Given the description of an element on the screen output the (x, y) to click on. 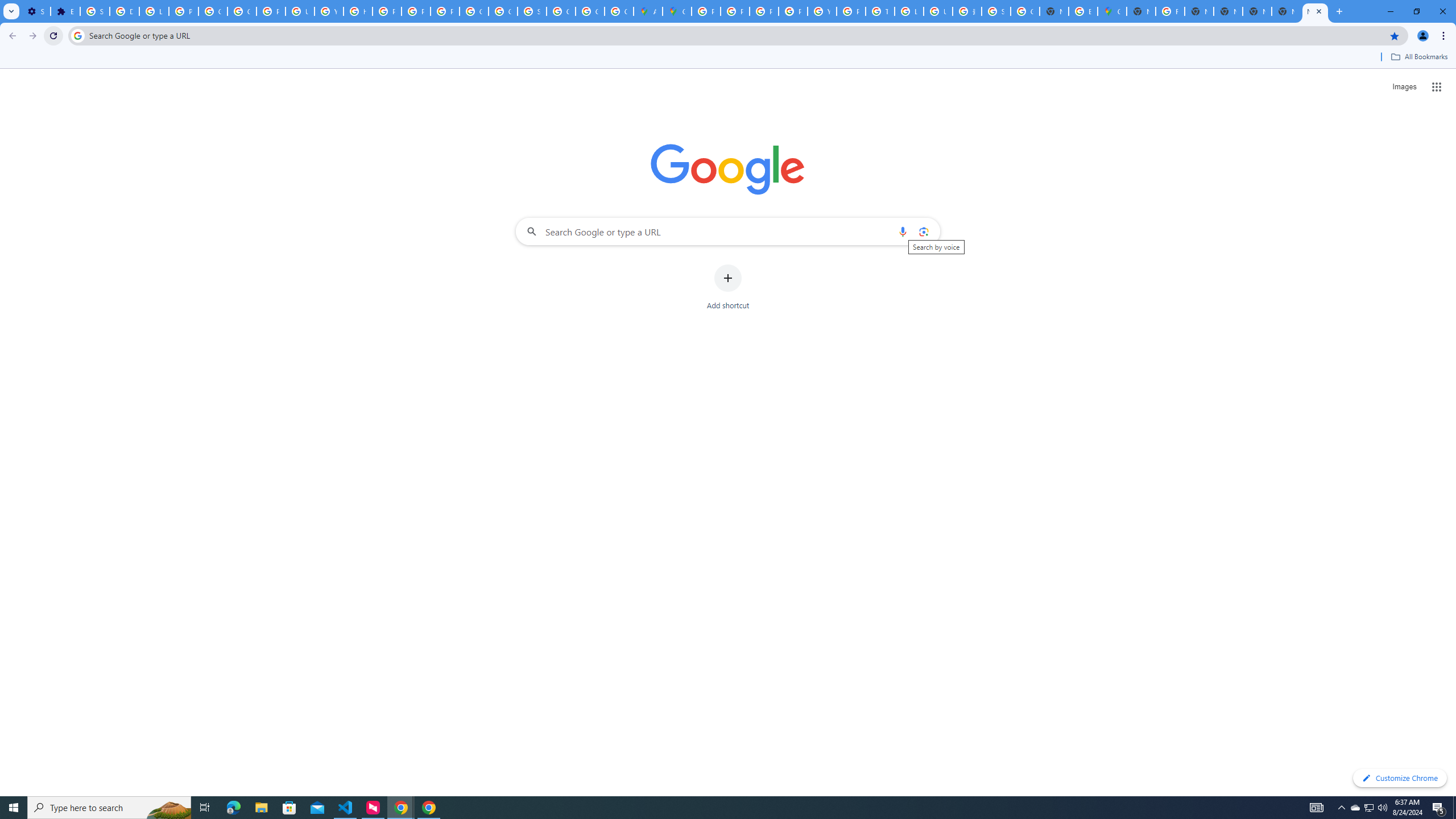
Tips & tricks for Chrome - Google Chrome Help (879, 11)
New Tab (1140, 11)
New Tab (1315, 11)
Explore new street-level details - Google Maps Help (1082, 11)
